Given the description of an element on the screen output the (x, y) to click on. 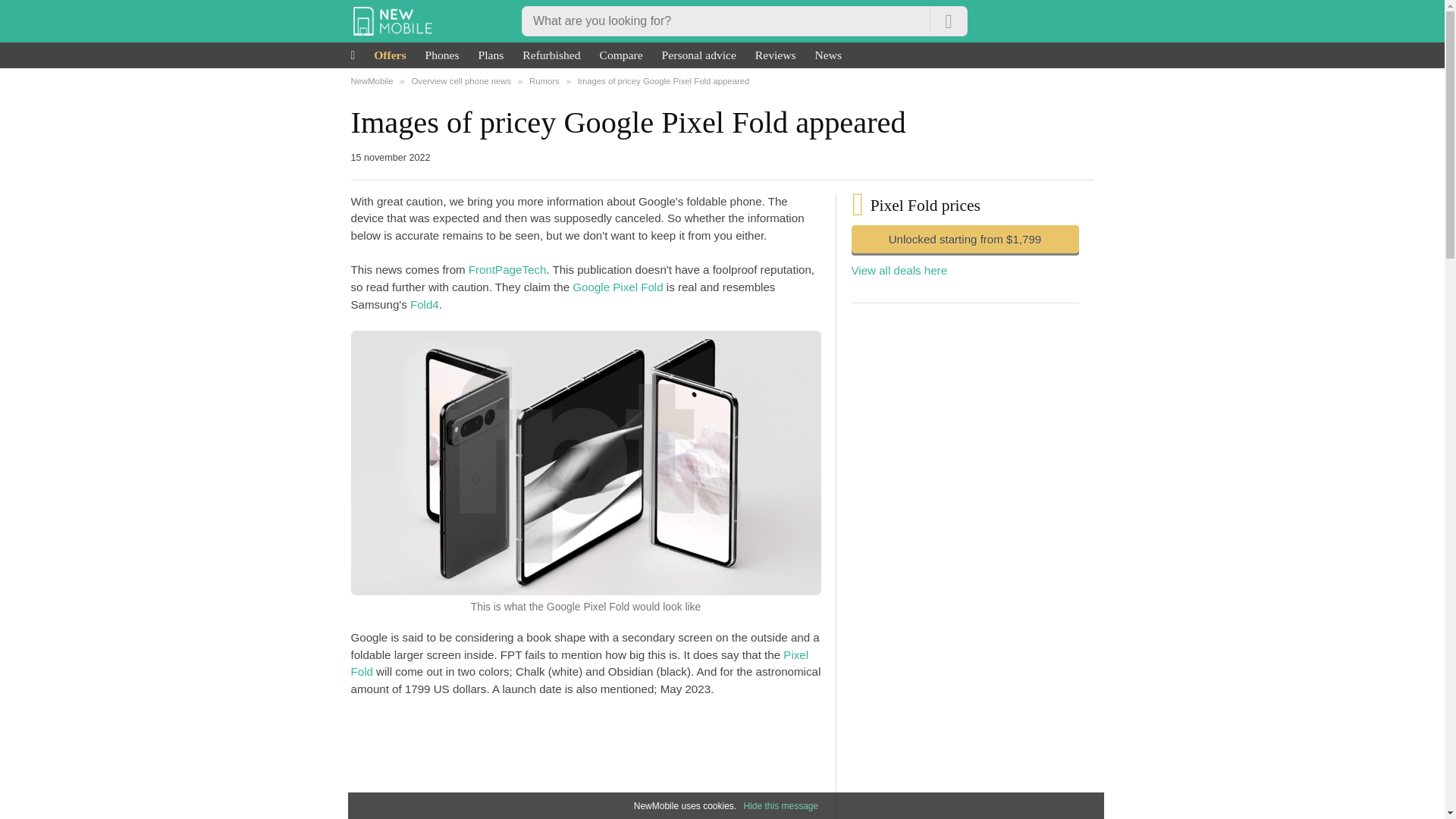
Personal advice (699, 54)
Refurbished (551, 54)
FrontPageTech (507, 269)
Rumors (544, 80)
Overview cell phone news (460, 80)
Compare (621, 54)
Images of pricey Google Pixel Fold appeared (663, 80)
Fold4 (424, 304)
Plans (490, 54)
Pixel Fold (579, 663)
News (828, 54)
NewMobile (371, 80)
Phones (442, 54)
Offers (390, 54)
Google Pixel Fold (617, 286)
